Given the description of an element on the screen output the (x, y) to click on. 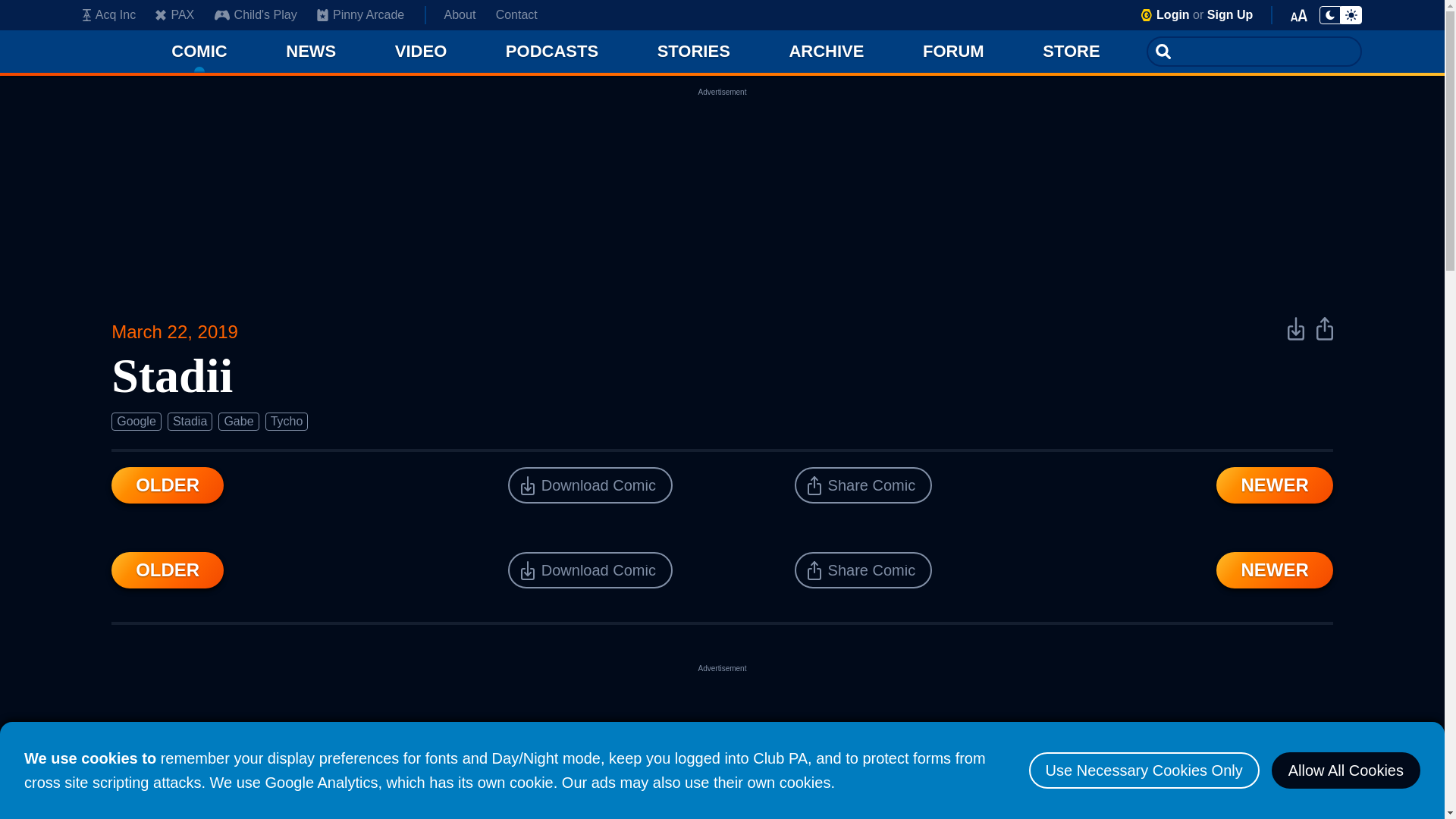
Child's Play (255, 14)
Contact (516, 14)
Pinny Arcade (360, 14)
Acq Inc (108, 14)
Login (1172, 14)
Allow All Cookies (1346, 770)
About (460, 14)
Use Necessary Cookies Only (1144, 770)
PAX (174, 14)
